Given the description of an element on the screen output the (x, y) to click on. 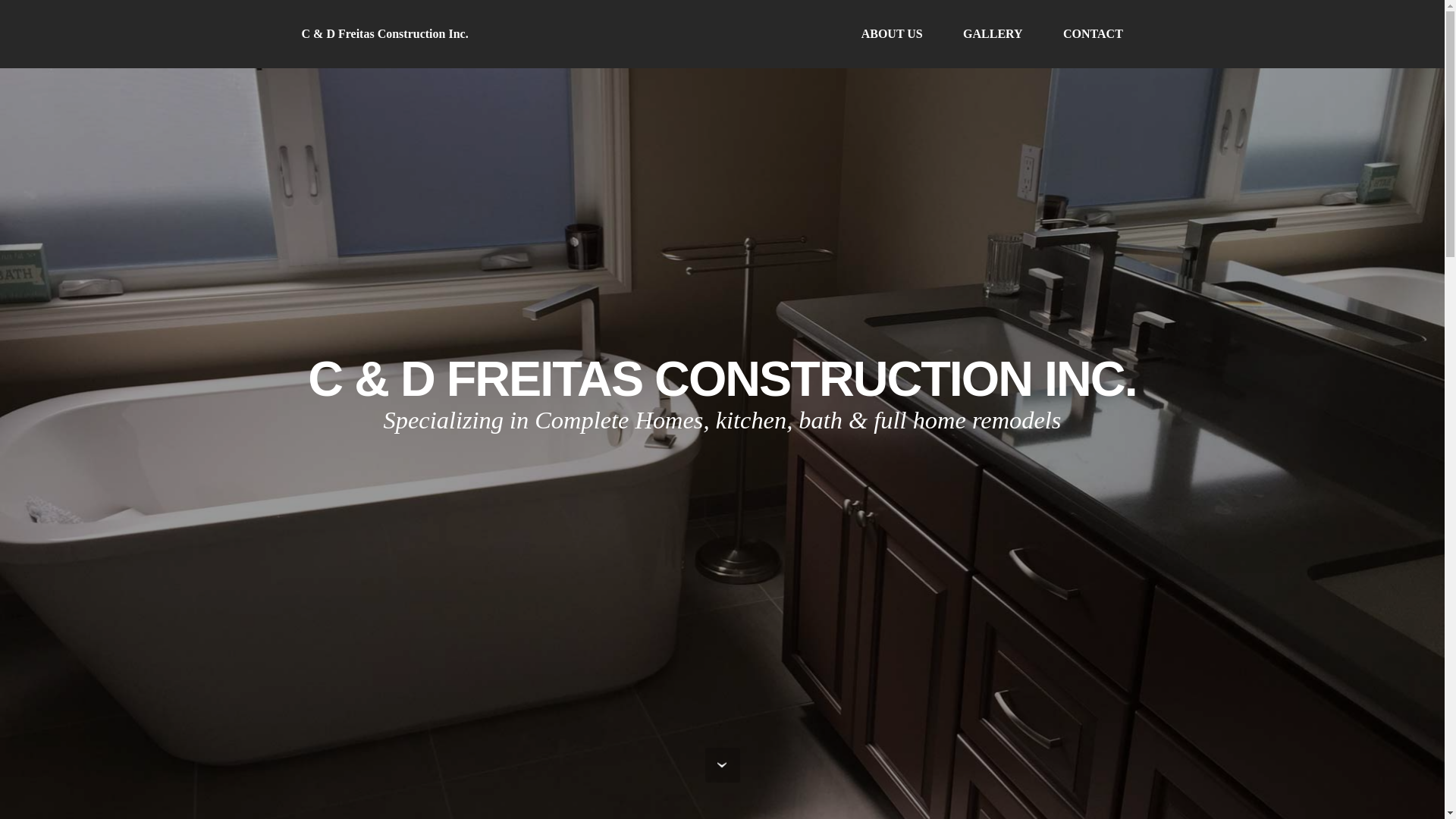
ABOUT US (892, 34)
CONTACT (1092, 34)
GALLERY (992, 34)
